Given the description of an element on the screen output the (x, y) to click on. 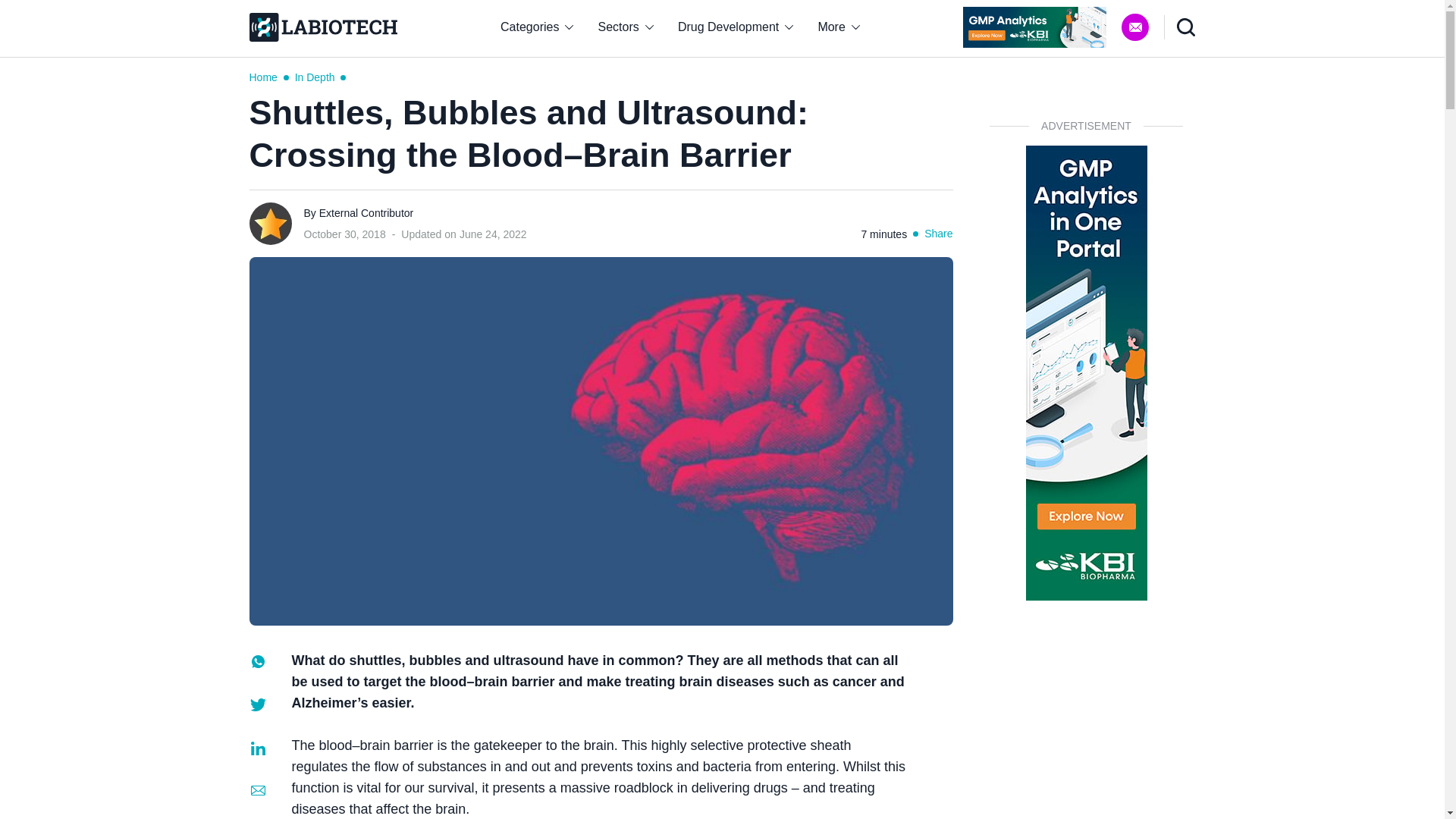
Categories (536, 27)
Sectors (625, 27)
Drug Development (735, 27)
Labiotech.eu (322, 27)
